Given the description of an element on the screen output the (x, y) to click on. 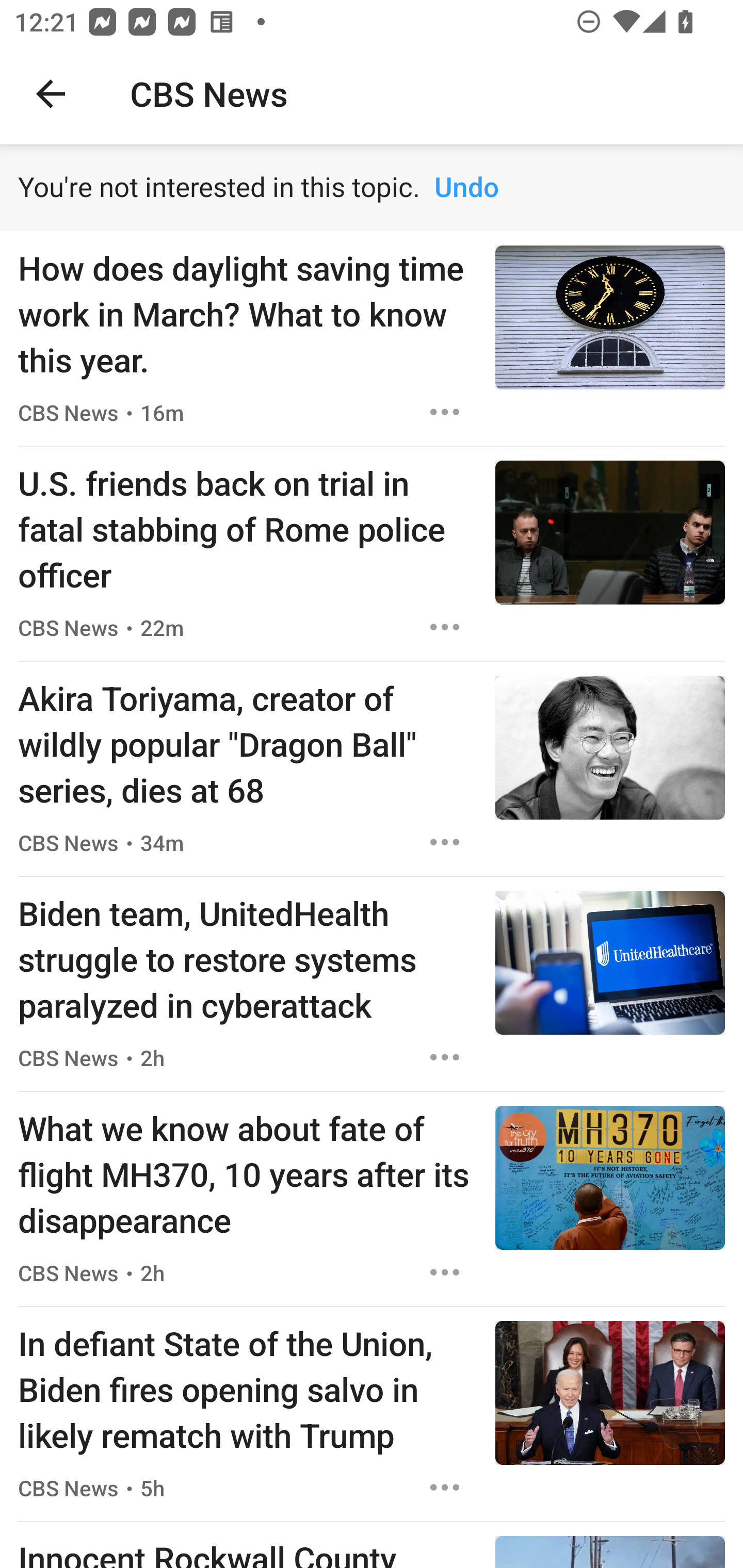
Navigate up (50, 93)
Undo (466, 187)
Options (444, 412)
Options (444, 627)
Options (444, 841)
Options (444, 1057)
Options (444, 1272)
Options (444, 1487)
